Given the description of an element on the screen output the (x, y) to click on. 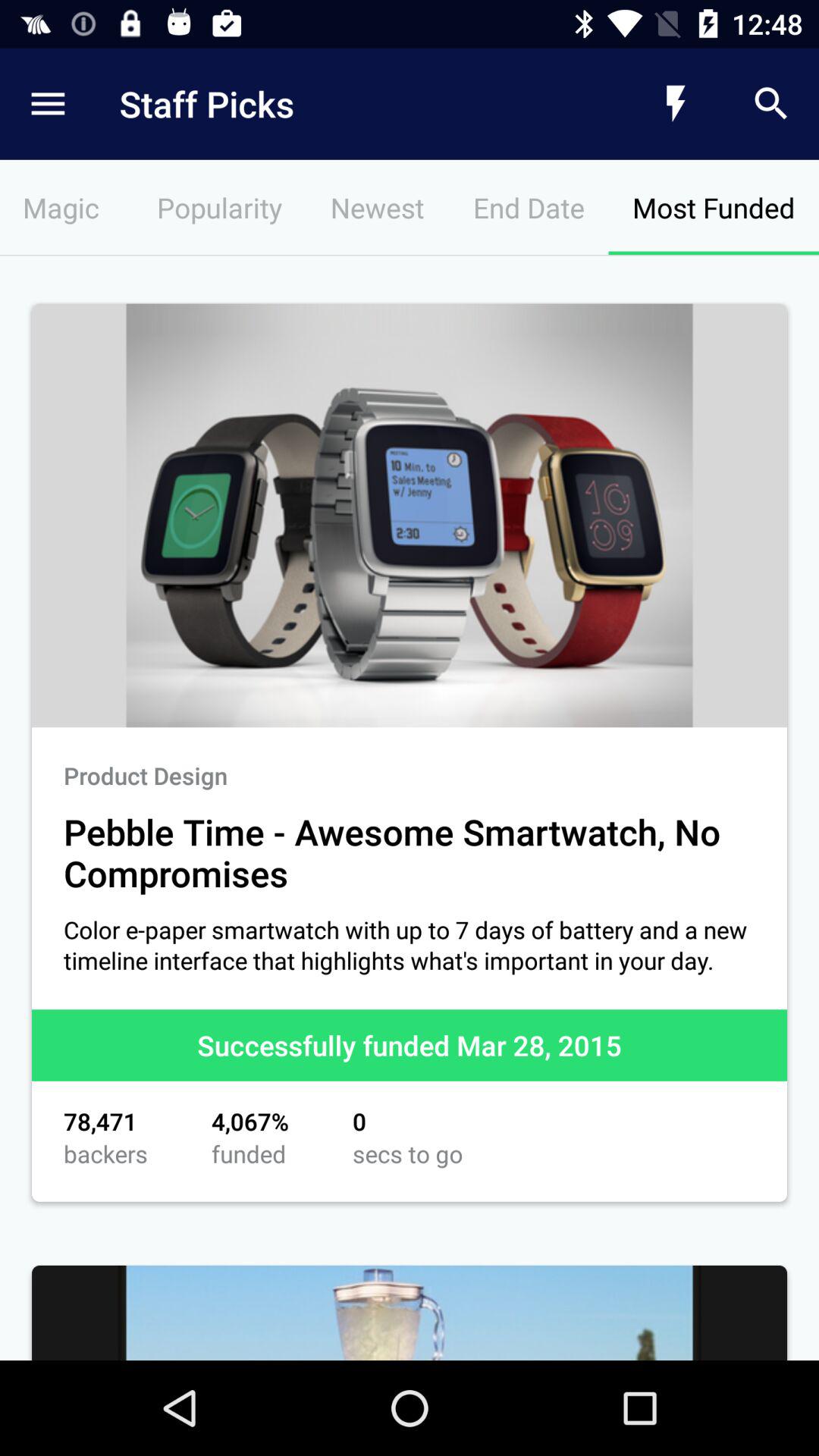
scroll to staff picks icon (345, 103)
